Given the description of an element on the screen output the (x, y) to click on. 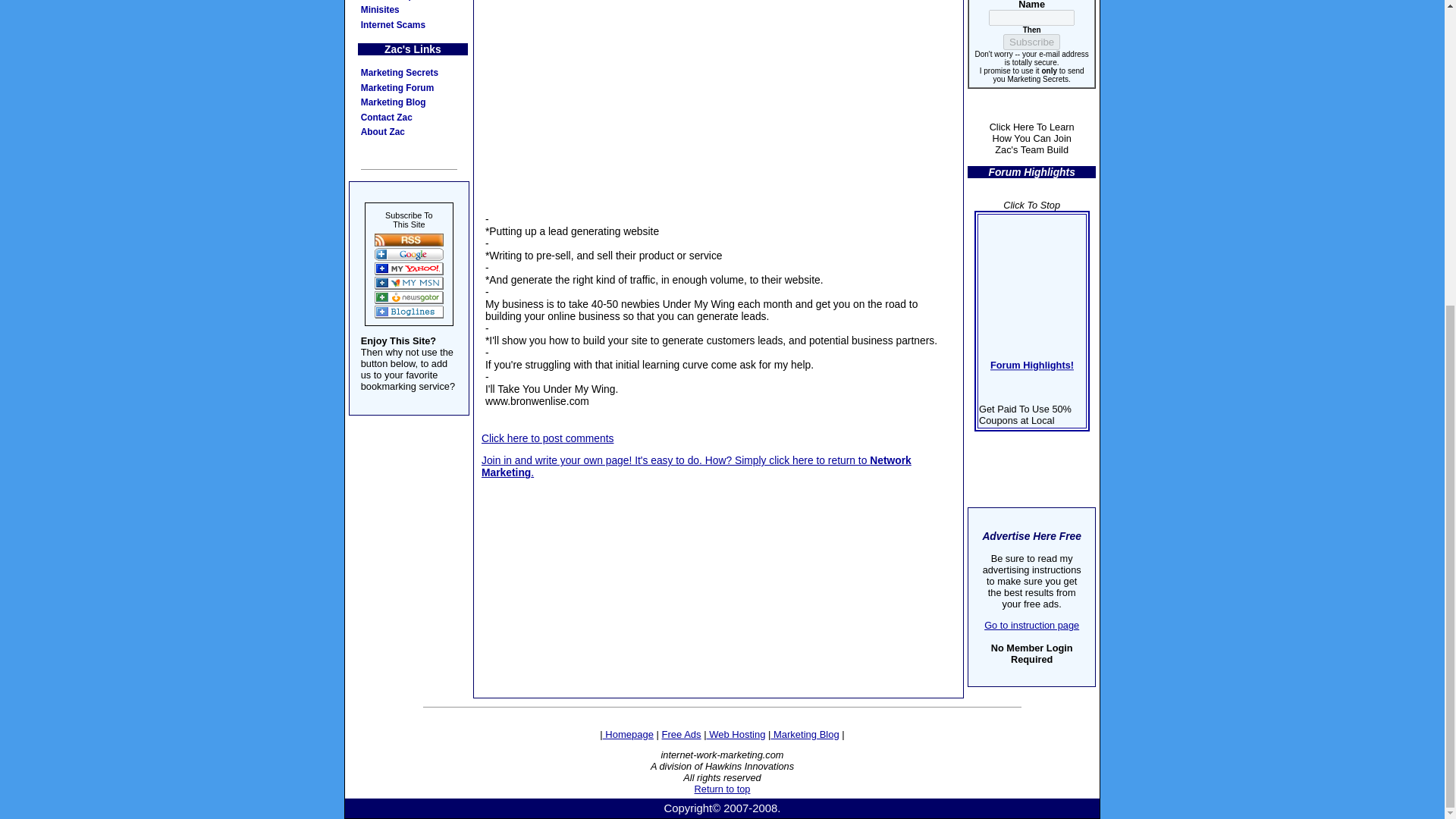
Advertisement (718, 101)
Internet Scams (412, 25)
Marketing Blog (412, 102)
Click here to post comments (546, 438)
Go to instruction page (1031, 624)
Subscribe (1031, 41)
read more... (1021, 562)
Marketing Secrets (412, 73)
read more... (1031, 522)
Advertisement (718, 511)
